Given the description of an element on the screen output the (x, y) to click on. 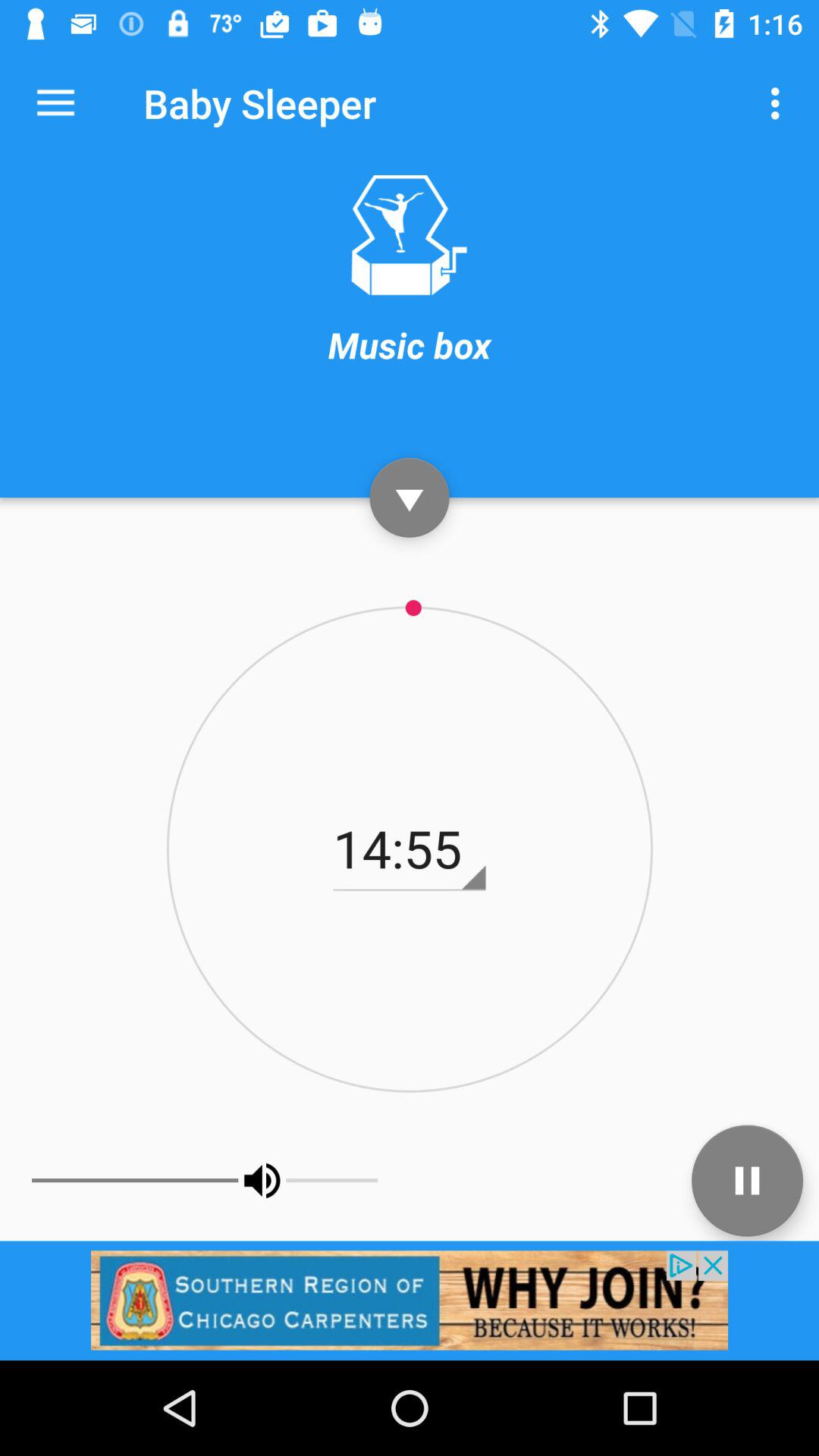
downward button (409, 497)
